Given the description of an element on the screen output the (x, y) to click on. 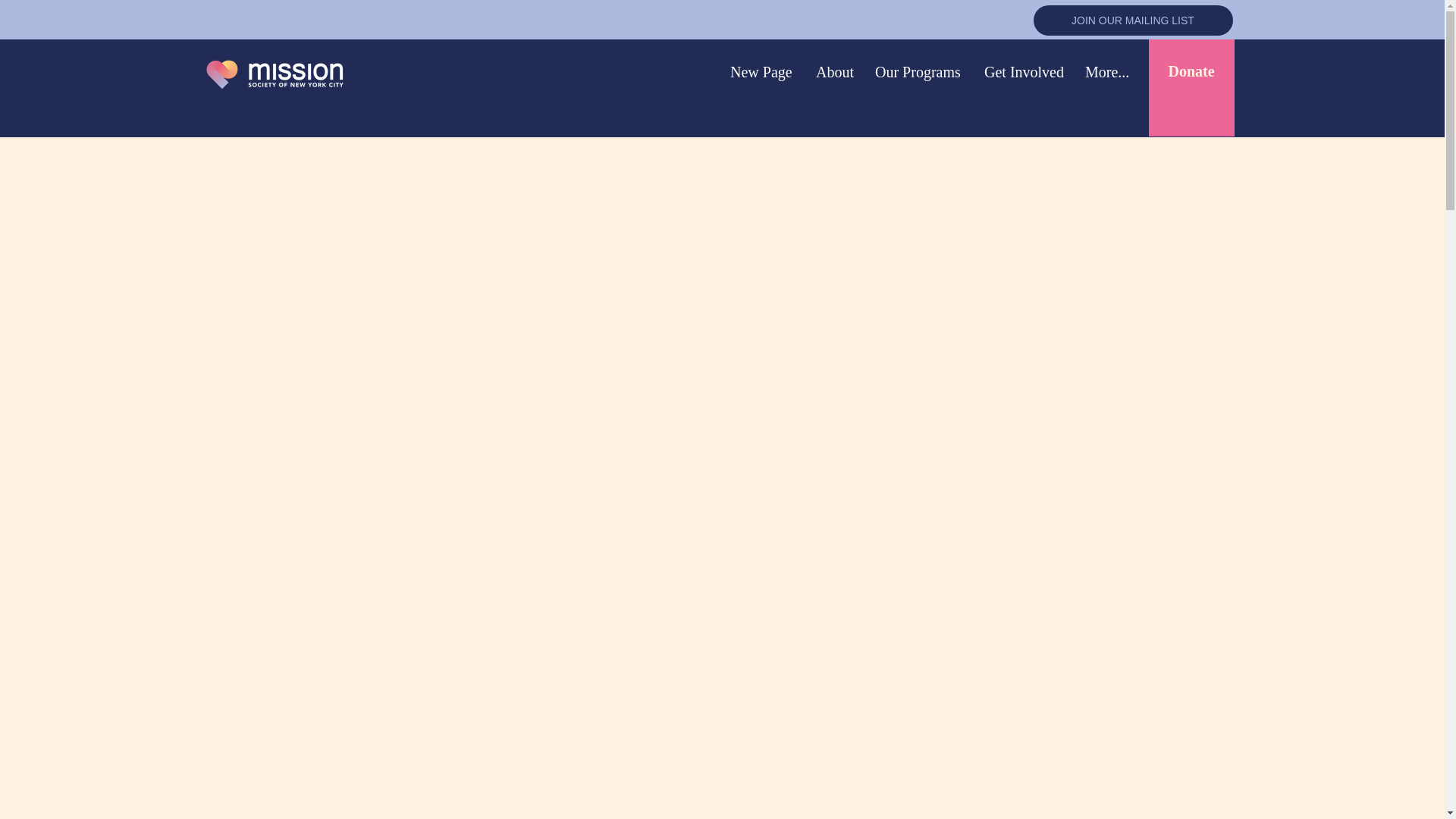
New Page (760, 71)
Donate (1190, 71)
JOIN OUR MAILING LIST (1131, 20)
